Given the description of an element on the screen output the (x, y) to click on. 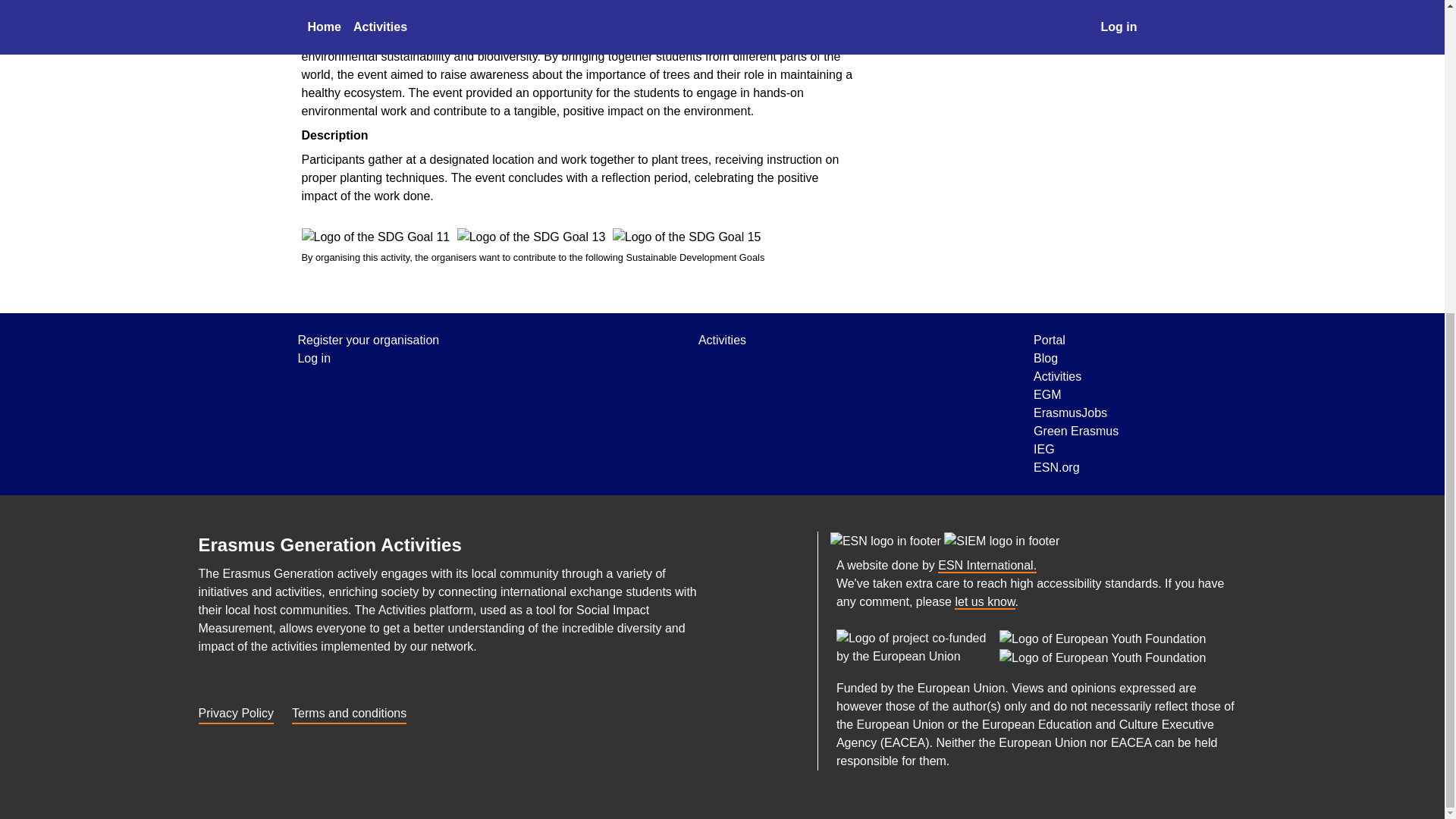
EGM (1075, 394)
Log in (368, 358)
ESN.org (1075, 467)
SIEM-project website (1001, 540)
IEG (1075, 449)
contact us (984, 602)
Goal 15: Life on Land (686, 237)
Activities (1075, 376)
Blog (1075, 358)
Privacy Policy (236, 710)
Activities (721, 340)
Portal (1075, 340)
ESN.org (986, 565)
List of activities. (721, 340)
Green Erasmus (1075, 431)
